Given the description of an element on the screen output the (x, y) to click on. 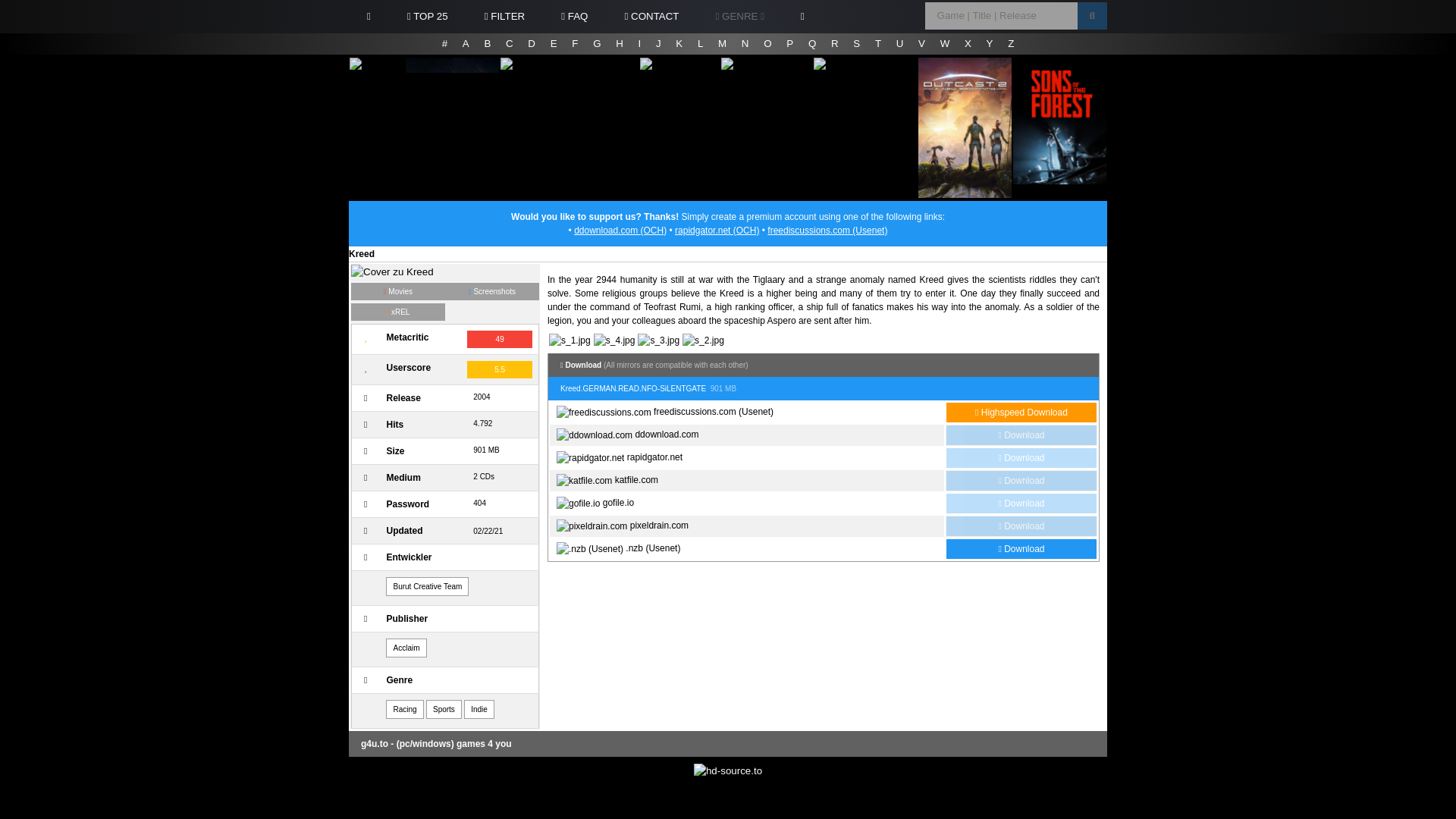
GENRE (740, 16)
Alle Spiele mit D (531, 43)
Alle Spiele mit O (767, 43)
Expand (740, 16)
TOP 25 (426, 16)
Alle Spiele mit B (486, 43)
Alle Spiele mit M (721, 43)
Alle Spiele mit H (619, 43)
Alle Spiele mit K (678, 43)
CONTACT (651, 16)
